Given the description of an element on the screen output the (x, y) to click on. 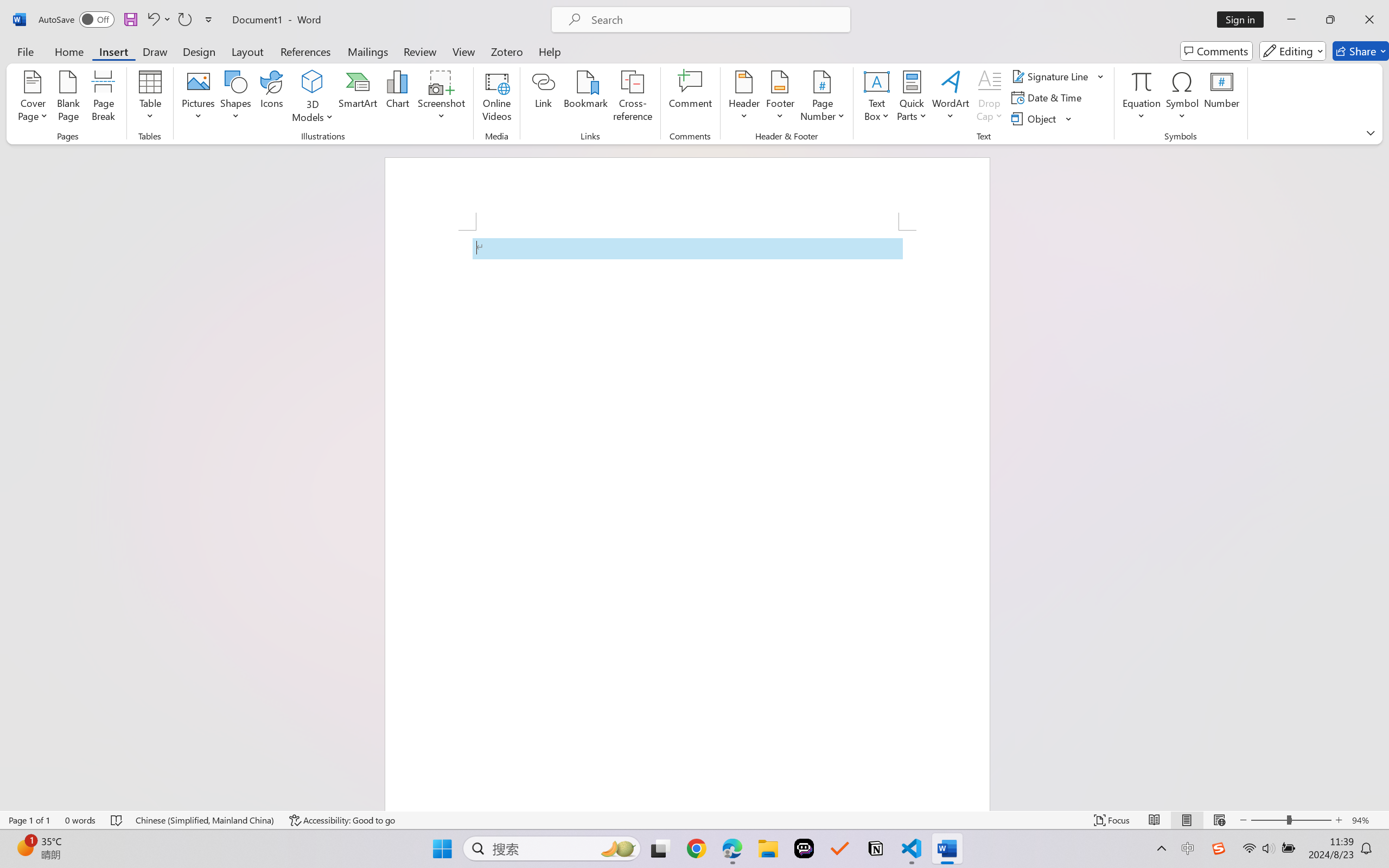
Comment (689, 97)
3D Models (312, 97)
Blank Page (67, 97)
Cross-reference... (632, 97)
Pictures (198, 97)
Editing (1292, 50)
Shapes (235, 97)
Bookmark... (585, 97)
